Given the description of an element on the screen output the (x, y) to click on. 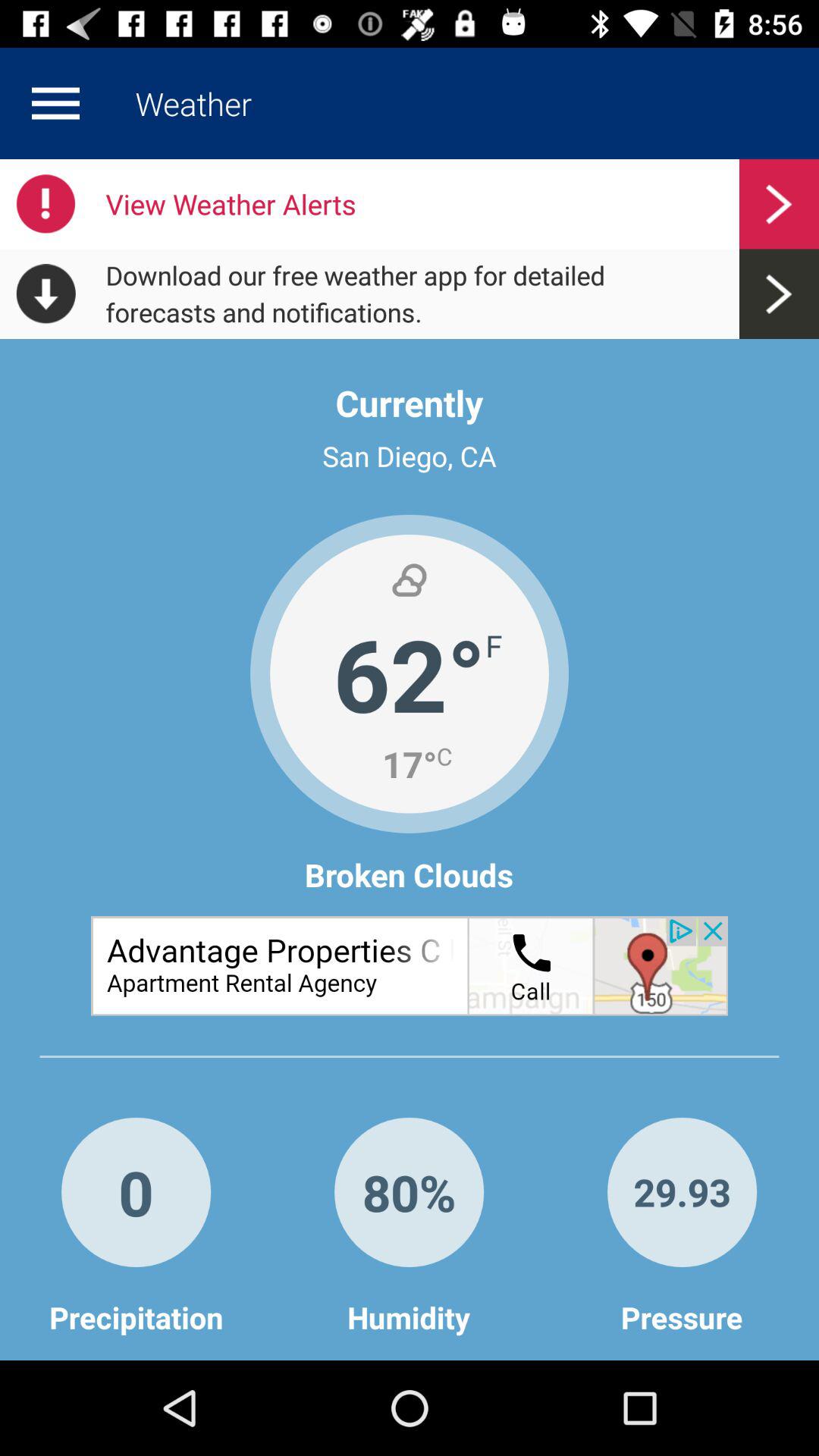
google map (409, 965)
